Given the description of an element on the screen output the (x, y) to click on. 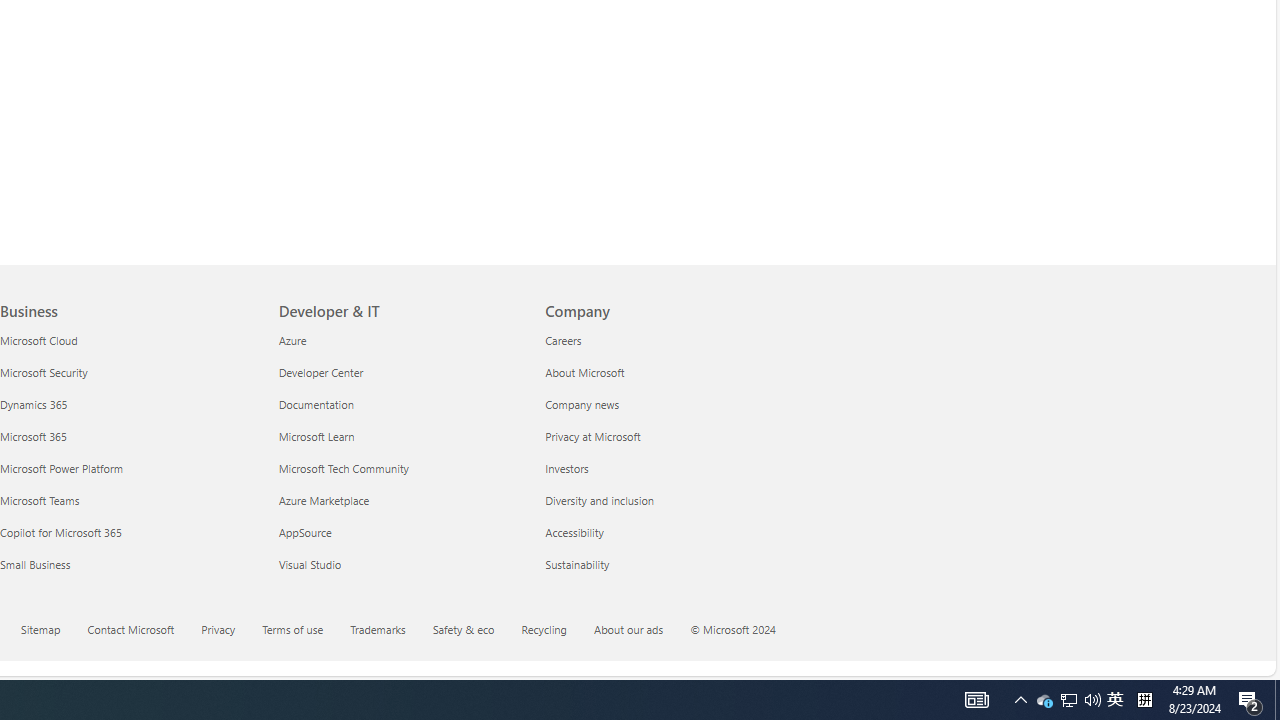
Documentation (399, 404)
Sitemap (40, 628)
Company news Company (582, 403)
Microsoft Learn Developer & IT (315, 435)
Azure Marketplace (399, 499)
Accessibility (666, 532)
Azure (399, 340)
Terms of use (292, 628)
Privacy at Microsoft (666, 435)
Visual Studio Developer & IT (309, 563)
Sustainability Company (577, 563)
About our ads (640, 631)
Visual Studio (399, 564)
About our ads (628, 628)
